Given the description of an element on the screen output the (x, y) to click on. 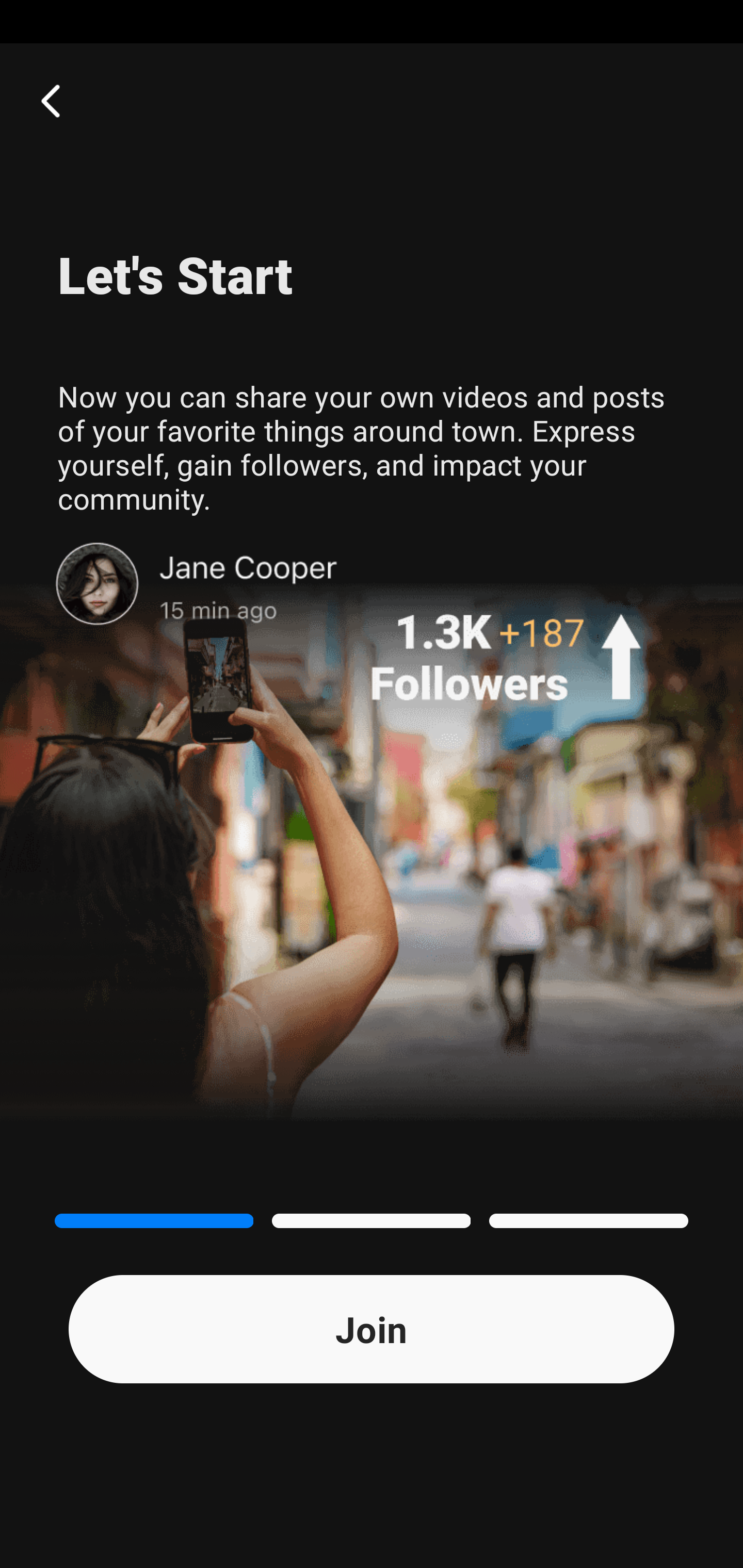
Join (371, 1328)
